Given the description of an element on the screen output the (x, y) to click on. 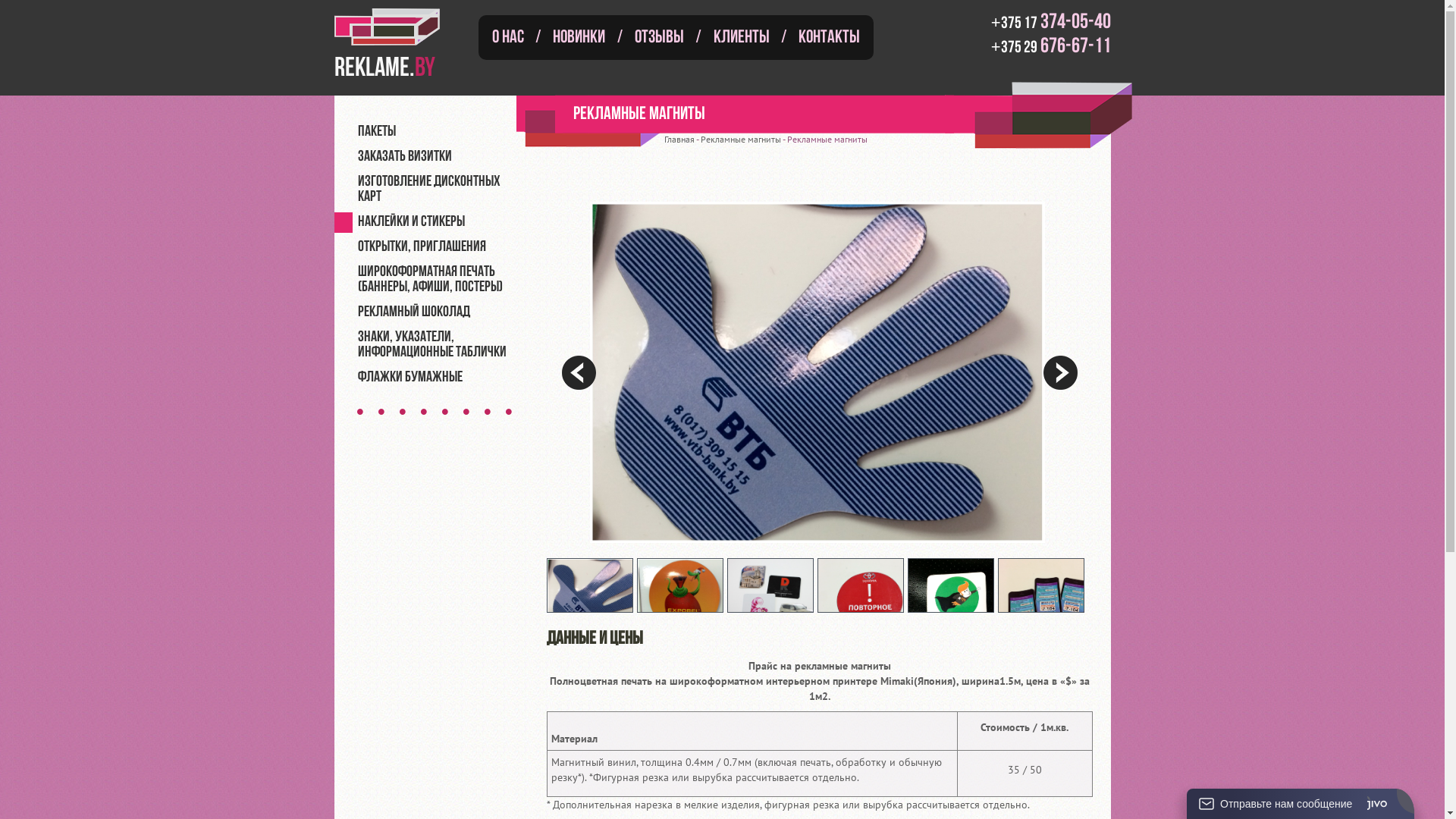
REKLAME.BY Element type: text (397, 41)
